Given the description of an element on the screen output the (x, y) to click on. 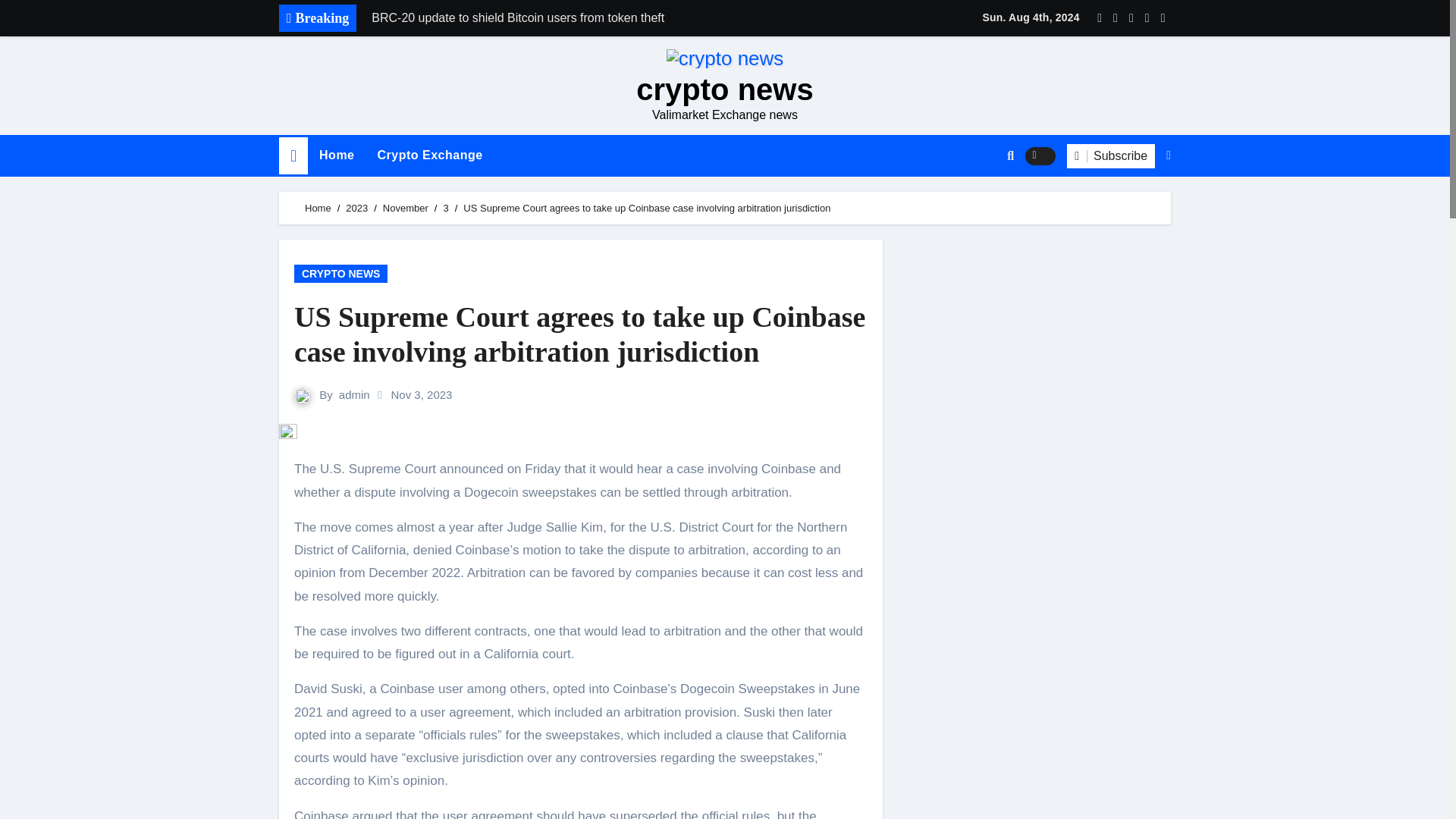
November (405, 207)
2023 (357, 207)
Home (317, 207)
Crypto Exchange (429, 155)
Home (336, 155)
3 (445, 207)
CRYPTO NEWS (340, 273)
Home (293, 155)
Home (336, 155)
crypto news (724, 89)
admin (354, 394)
BRC-20 update to shield Bitcoin users from token theft (574, 18)
Subscribe (1110, 156)
